Given the description of an element on the screen output the (x, y) to click on. 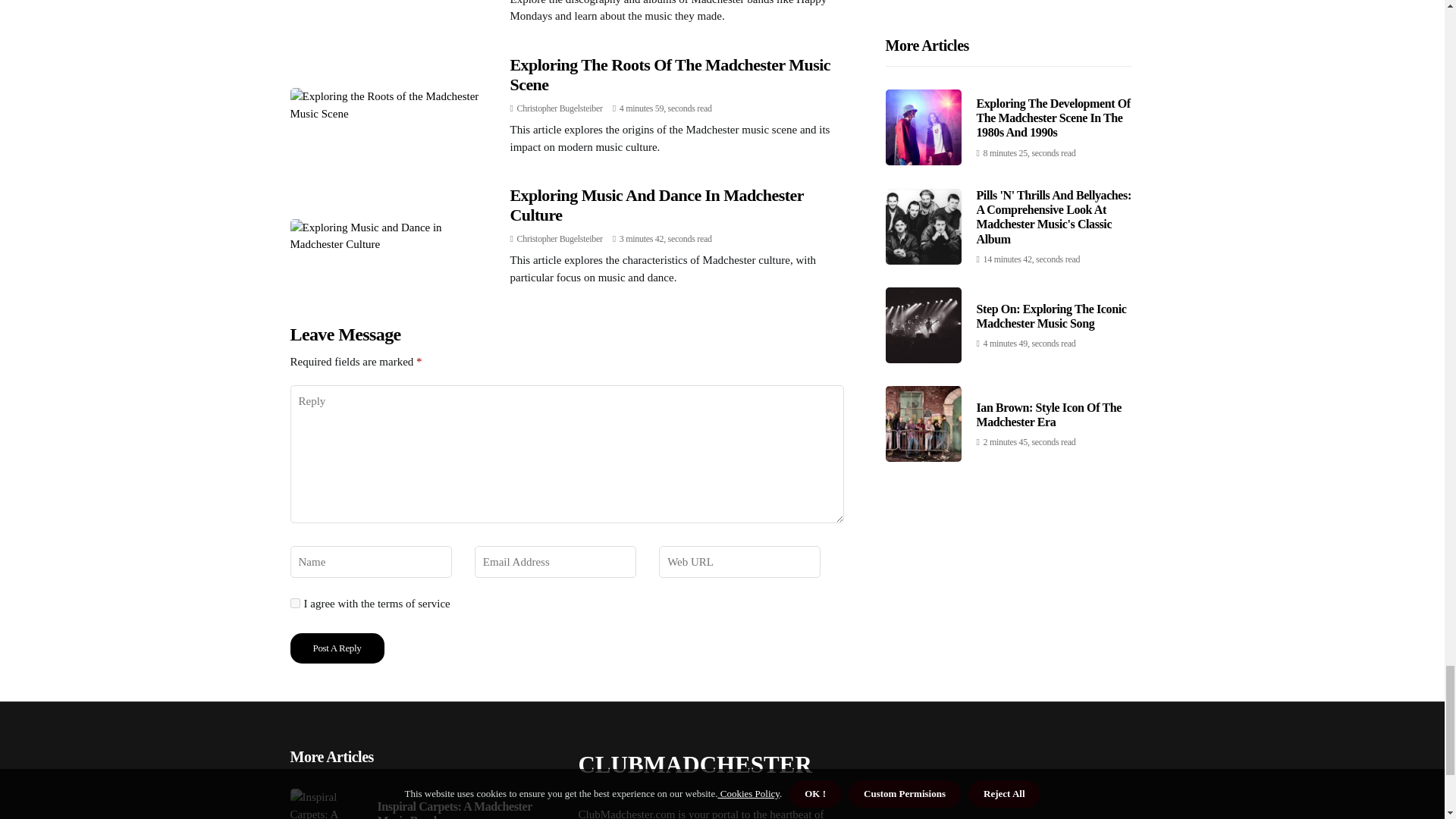
Posts by Christopher Bugelsteiber (559, 238)
yes (294, 603)
Post a Reply (336, 648)
Posts by Christopher Bugelsteiber (559, 108)
